Given the description of an element on the screen output the (x, y) to click on. 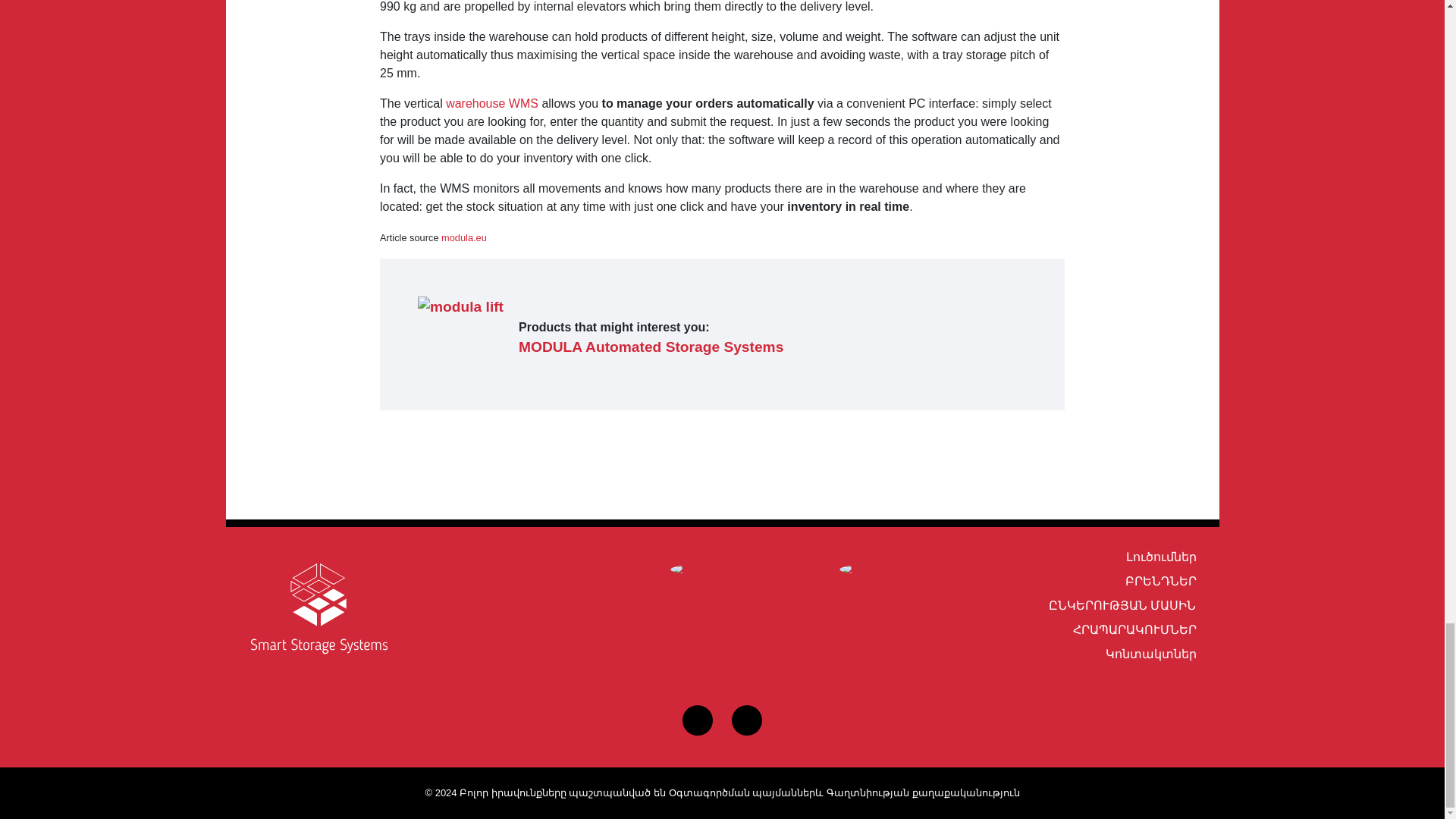
warehouse WMS (491, 103)
modula.eu (463, 237)
MODULA Automated Storage Systems (650, 346)
